Given the description of an element on the screen output the (x, y) to click on. 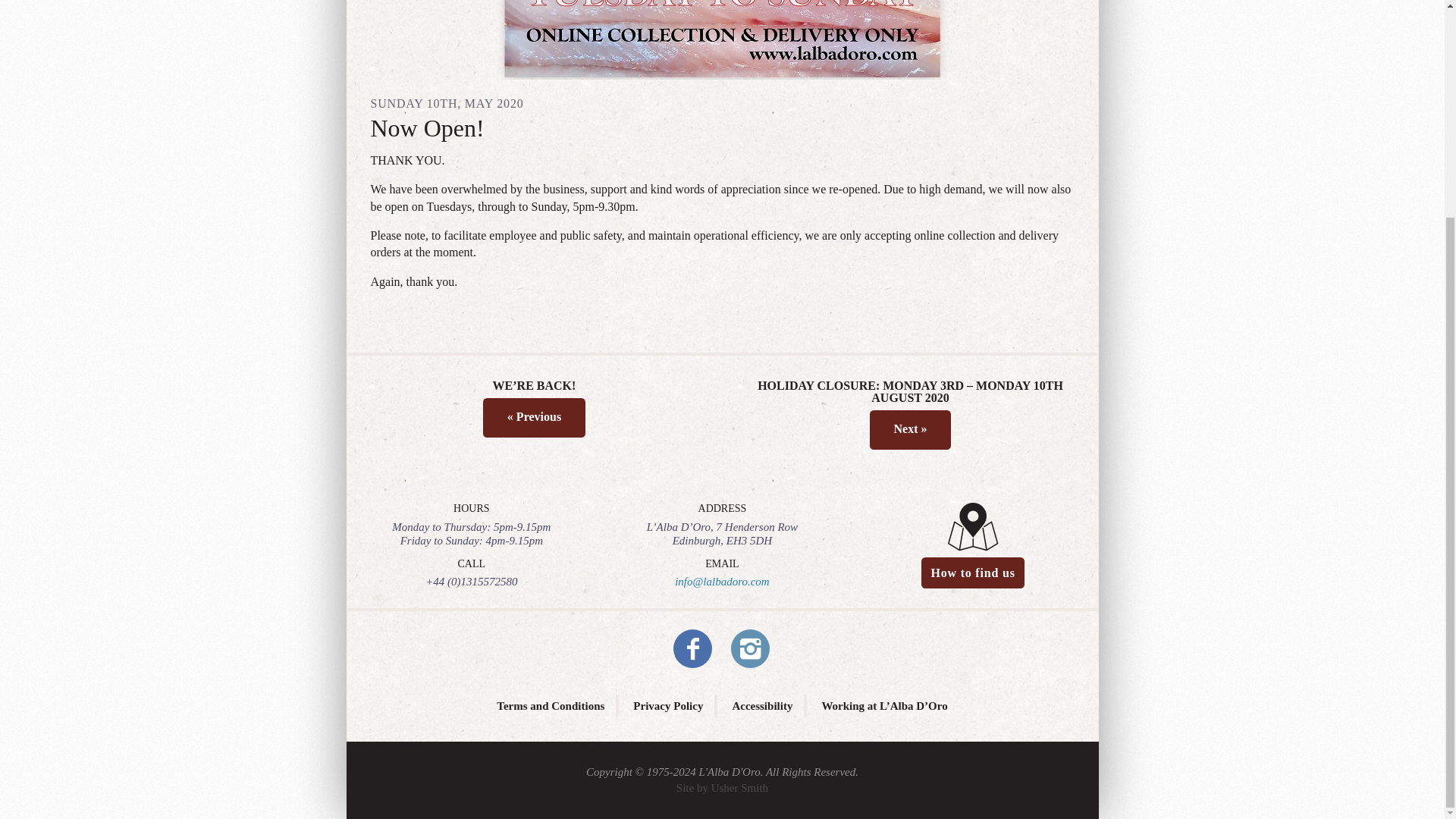
Privacy Policy (668, 705)
Accessibility (762, 705)
Terms and Conditions (550, 705)
Site by Usher Smith (722, 787)
How to find us (973, 572)
